Given the description of an element on the screen output the (x, y) to click on. 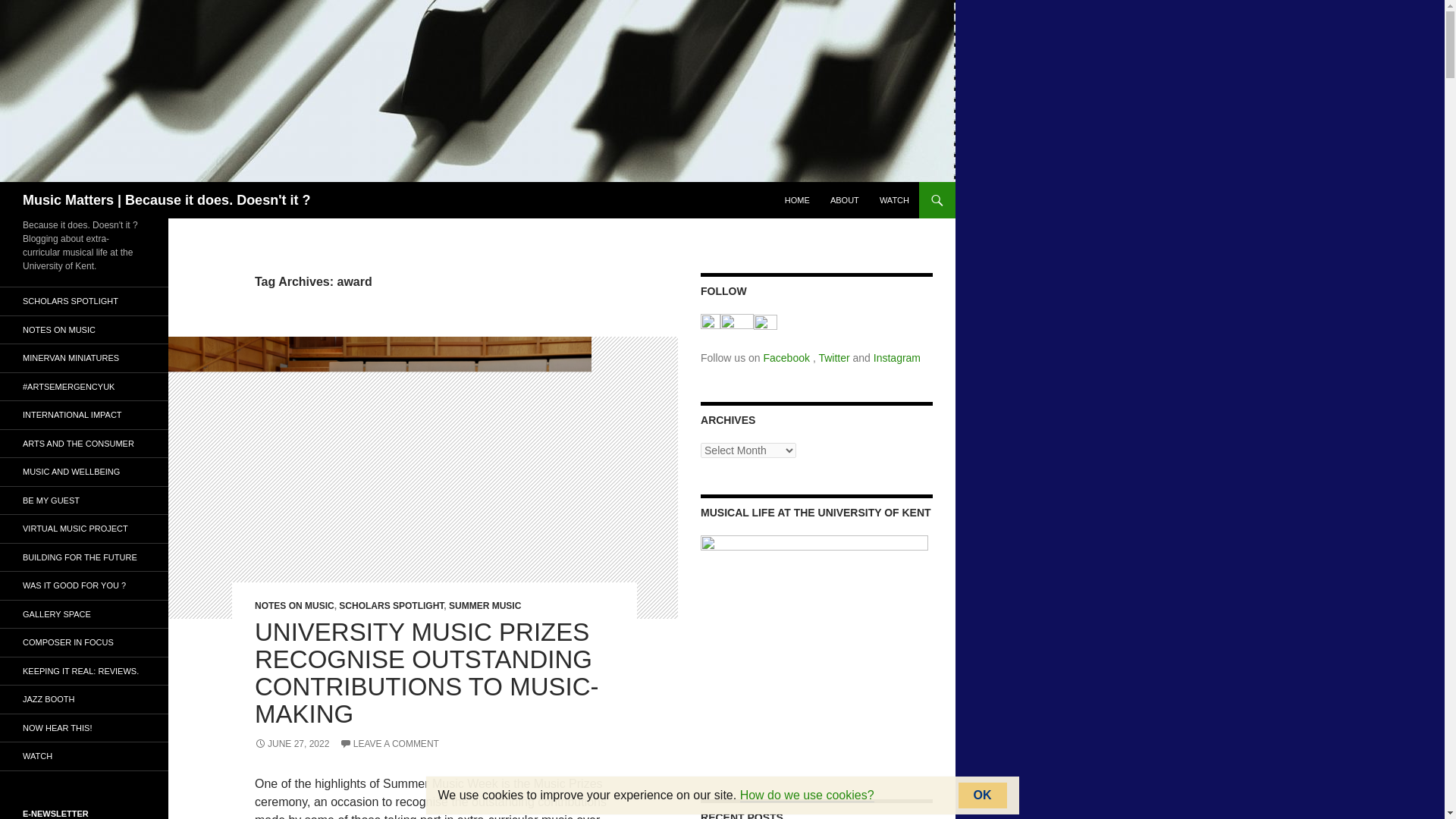
NOTES ON MUSIC (294, 605)
JUNE 27, 2022 (291, 743)
OK (982, 795)
HOME (797, 199)
SUMMER MUSIC (484, 605)
ABOUT (844, 199)
LEAVE A COMMENT (389, 743)
WATCH (894, 199)
SCHOLARS SPOTLIGHT (391, 605)
How do we use cookies? (807, 795)
